Given the description of an element on the screen output the (x, y) to click on. 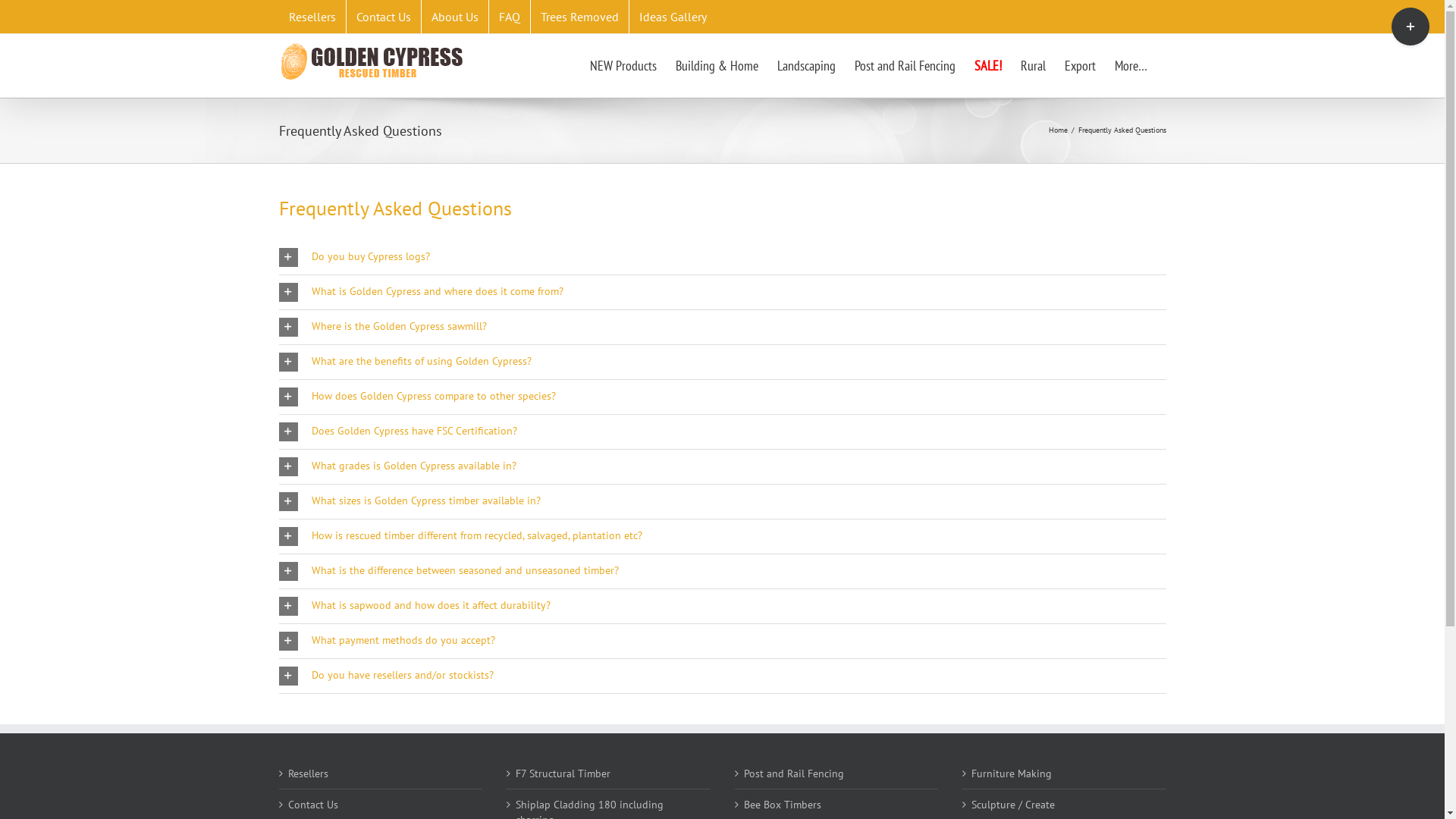
What payment methods do you accept? Element type: text (722, 640)
Export Element type: text (1079, 65)
How does Golden Cypress compare to other species? Element type: text (722, 396)
Resellers Element type: text (312, 16)
Sculpture / Create Element type: text (1064, 804)
Contact Us Element type: text (381, 804)
SALE! Element type: text (987, 65)
FAQ Element type: text (508, 16)
Resellers Element type: text (381, 773)
What are the benefits of using Golden Cypress? Element type: text (722, 361)
What sizes is Golden Cypress timber available in? Element type: text (722, 500)
Where is the Golden Cypress sawmill? Element type: text (722, 326)
What grades is Golden Cypress available in? Element type: text (722, 465)
Rural Element type: text (1032, 65)
F7 Structural Timber Element type: text (608, 773)
Post and Rail Fencing Element type: text (836, 773)
Does Golden Cypress have FSC Certification? Element type: text (722, 431)
About Us Element type: text (454, 16)
Bee Box Timbers Element type: text (836, 804)
Toggle Sliding Bar Area Element type: text (1410, 26)
Trees Removed Element type: text (579, 16)
Ideas Gallery Element type: text (672, 16)
Do you have resellers and/or stockists? Element type: text (722, 675)
Do you buy Cypress logs? Element type: text (722, 256)
Post and Rail Fencing Element type: text (903, 65)
Landscaping Element type: text (805, 65)
NEW Products Element type: text (622, 65)
Building & Home Element type: text (715, 65)
Furniture Making Element type: text (1064, 773)
What is Golden Cypress and where does it come from? Element type: text (722, 291)
What is sapwood and how does it affect durability? Element type: text (722, 605)
Contact Us Element type: text (382, 16)
Home Element type: text (1057, 129)
